Given the description of an element on the screen output the (x, y) to click on. 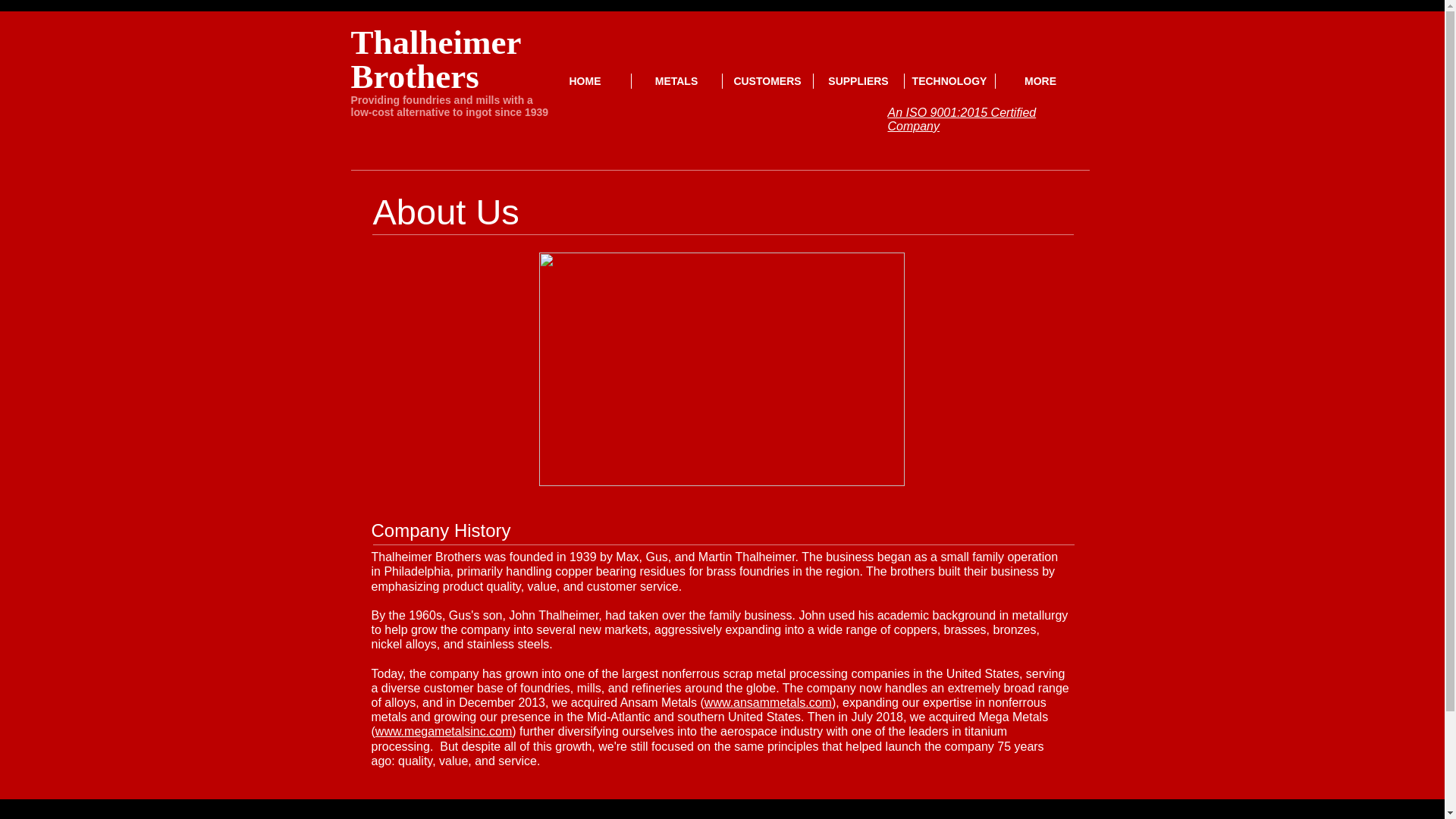
METALS (675, 80)
CUSTOMERS (767, 80)
Thalheimer Brothers (434, 59)
low-cost alternative to ingot since 1939 (449, 111)
HOME (585, 80)
TECHNOLOGY (949, 80)
An ISO 9001:2015 Certified Company (960, 119)
www.ansammetals.com (767, 702)
www.megametalsinc.com (443, 730)
Providing foundries and mills with a (441, 100)
